Given the description of an element on the screen output the (x, y) to click on. 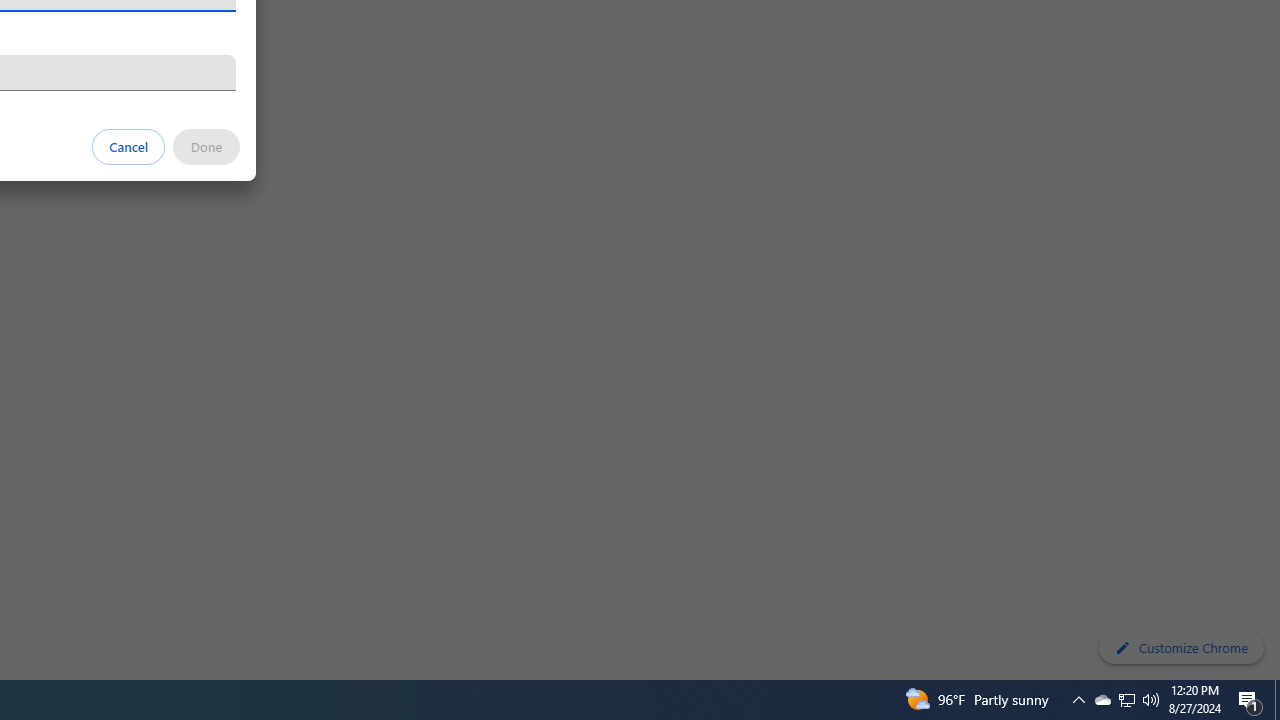
Done (206, 146)
Cancel (129, 146)
